Given the description of an element on the screen output the (x, y) to click on. 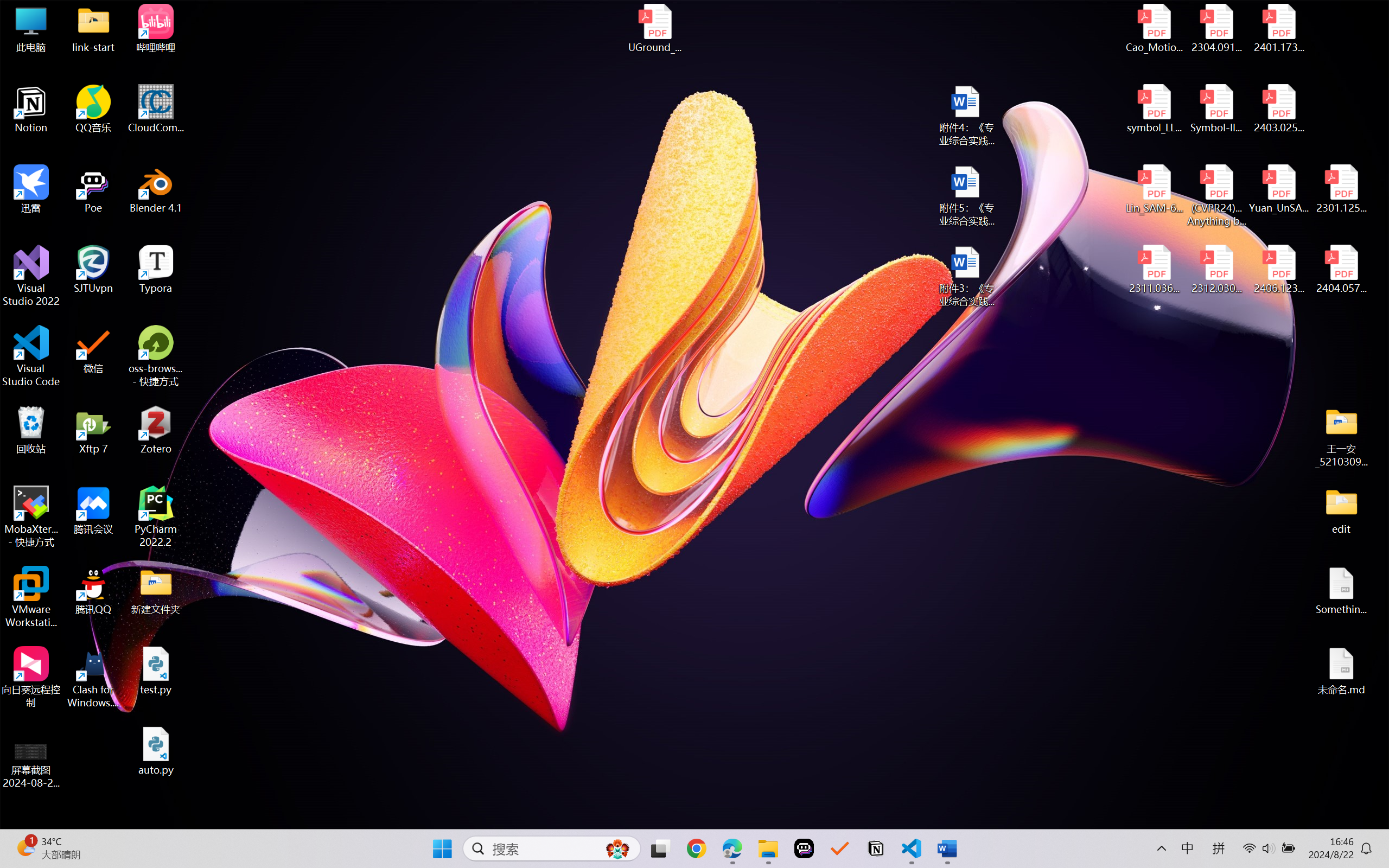
auto.py (156, 751)
symbol_LLM.pdf (1154, 109)
2312.03032v2.pdf (1216, 269)
UGround_paper.pdf (654, 28)
